Given the description of an element on the screen output the (x, y) to click on. 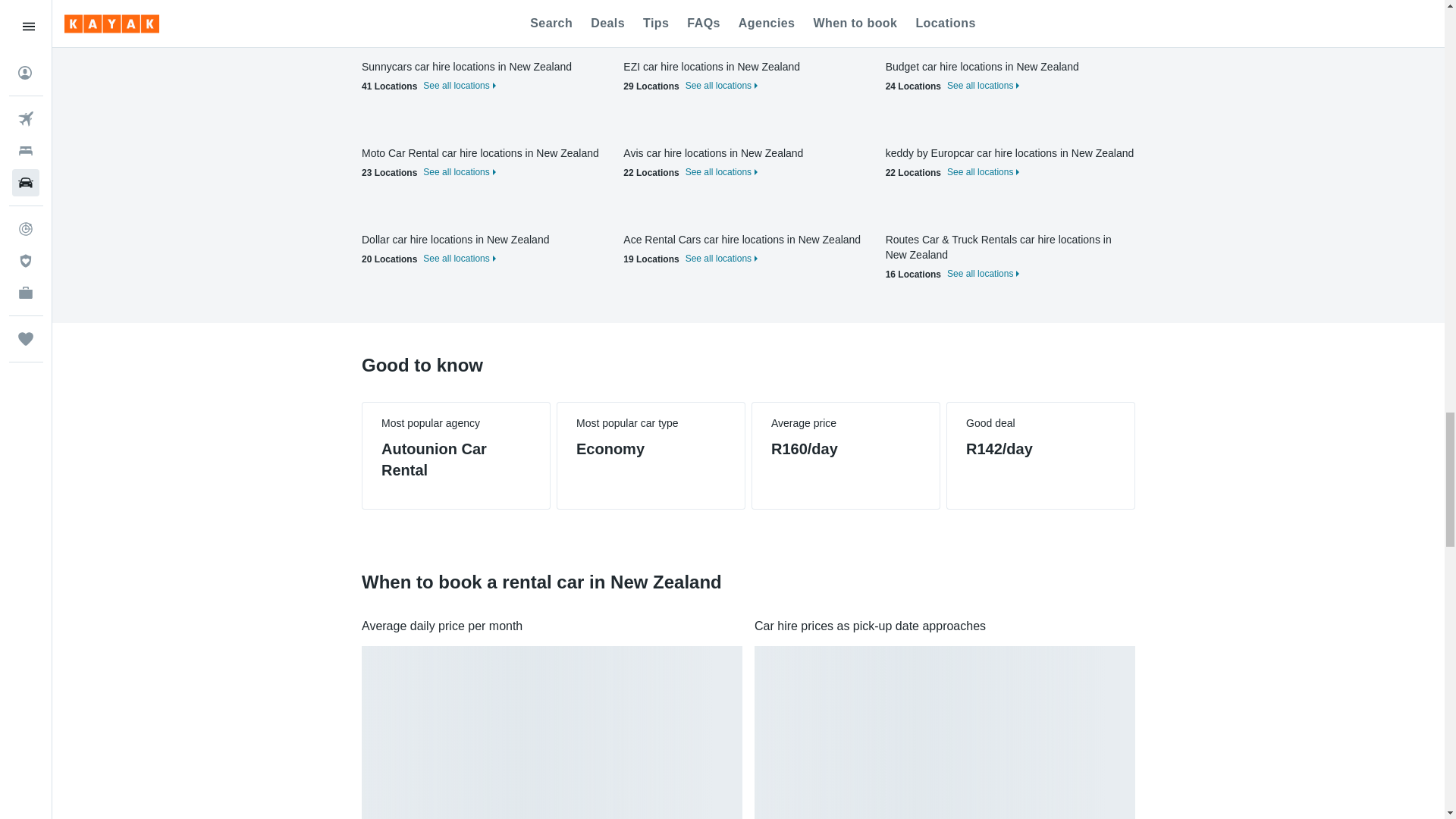
See all locations (719, 85)
See all locations (456, 2)
See all locations (456, 258)
See all locations (981, 85)
See all locations (456, 85)
See all locations (456, 172)
See all locations (719, 172)
See all locations (981, 172)
See all locations (719, 2)
See all locations (981, 2)
